Given the description of an element on the screen output the (x, y) to click on. 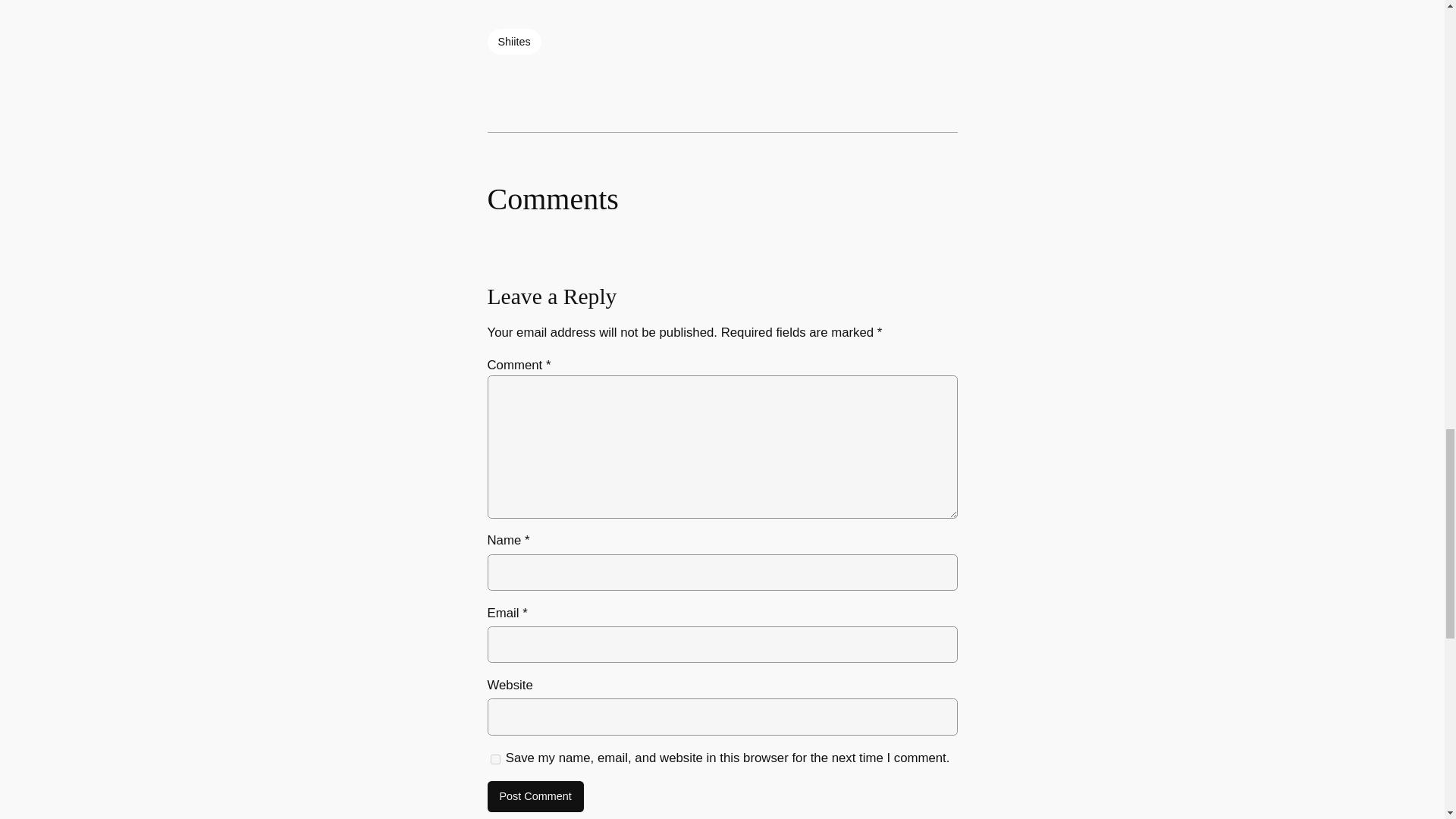
Post Comment (534, 797)
Shiites (513, 41)
Post Comment (534, 797)
